Given the description of an element on the screen output the (x, y) to click on. 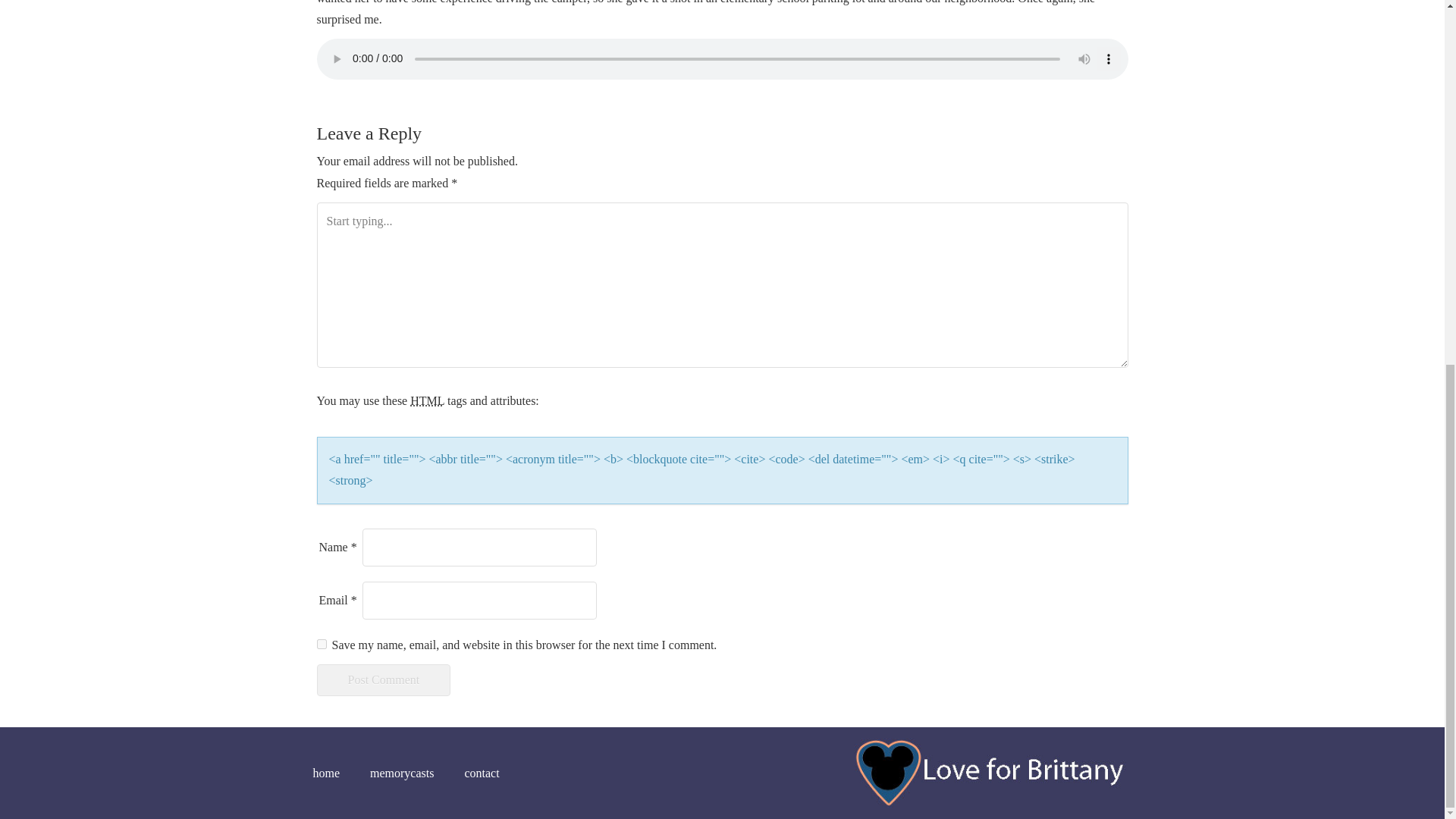
contact (480, 773)
memorycasts (401, 773)
home (334, 773)
yes (321, 644)
HyperText Markup Language (427, 400)
Post Comment (384, 680)
Post Comment (384, 680)
